Given the description of an element on the screen output the (x, y) to click on. 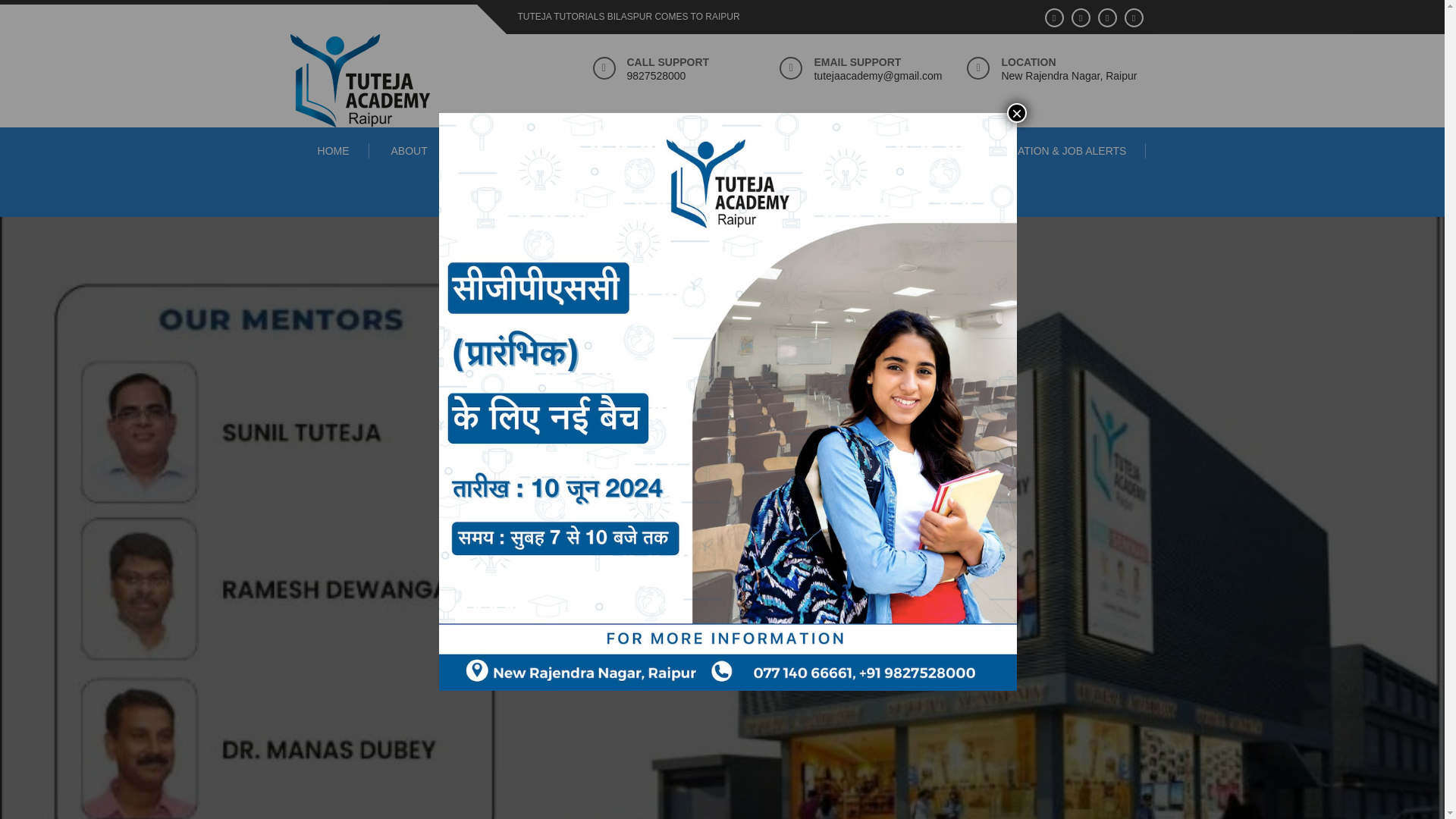
CONTACT US (825, 150)
ABOUT (408, 150)
ADMISSION (721, 195)
MEDIA (624, 150)
DOWNLOAD (718, 150)
LOGIN (916, 150)
HOME (333, 150)
OUR BRANCHES (515, 150)
